Given the description of an element on the screen output the (x, y) to click on. 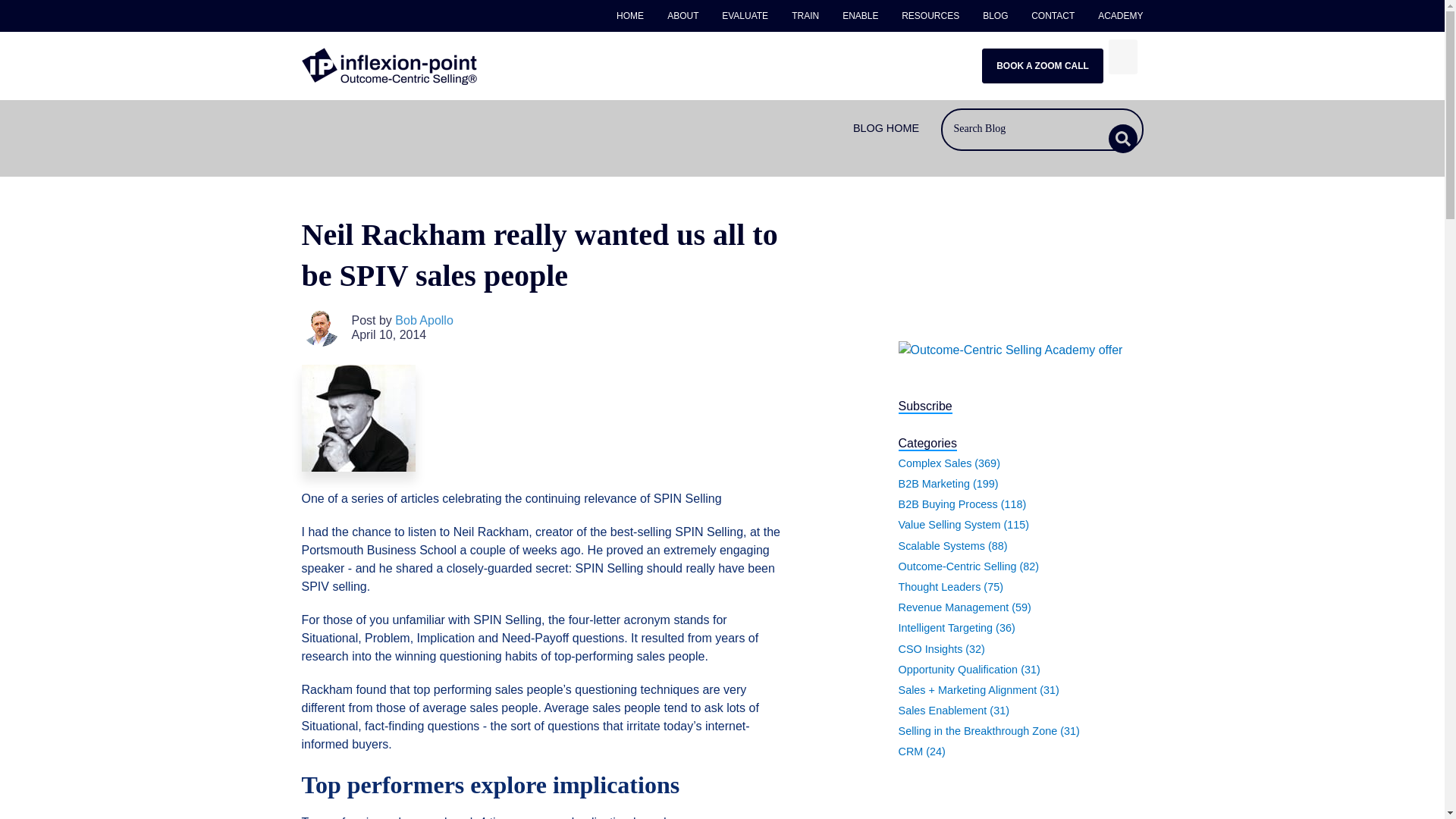
ACADEMY (1114, 15)
BOOK A ZOOM CALL (1042, 65)
ABOUT (683, 15)
TRAIN (804, 15)
BLOG (994, 15)
RESOURCES (930, 15)
BLOG HOME (886, 128)
ENABLE (860, 15)
EVALUATE (744, 15)
Bob Apollo (423, 319)
